Given the description of an element on the screen output the (x, y) to click on. 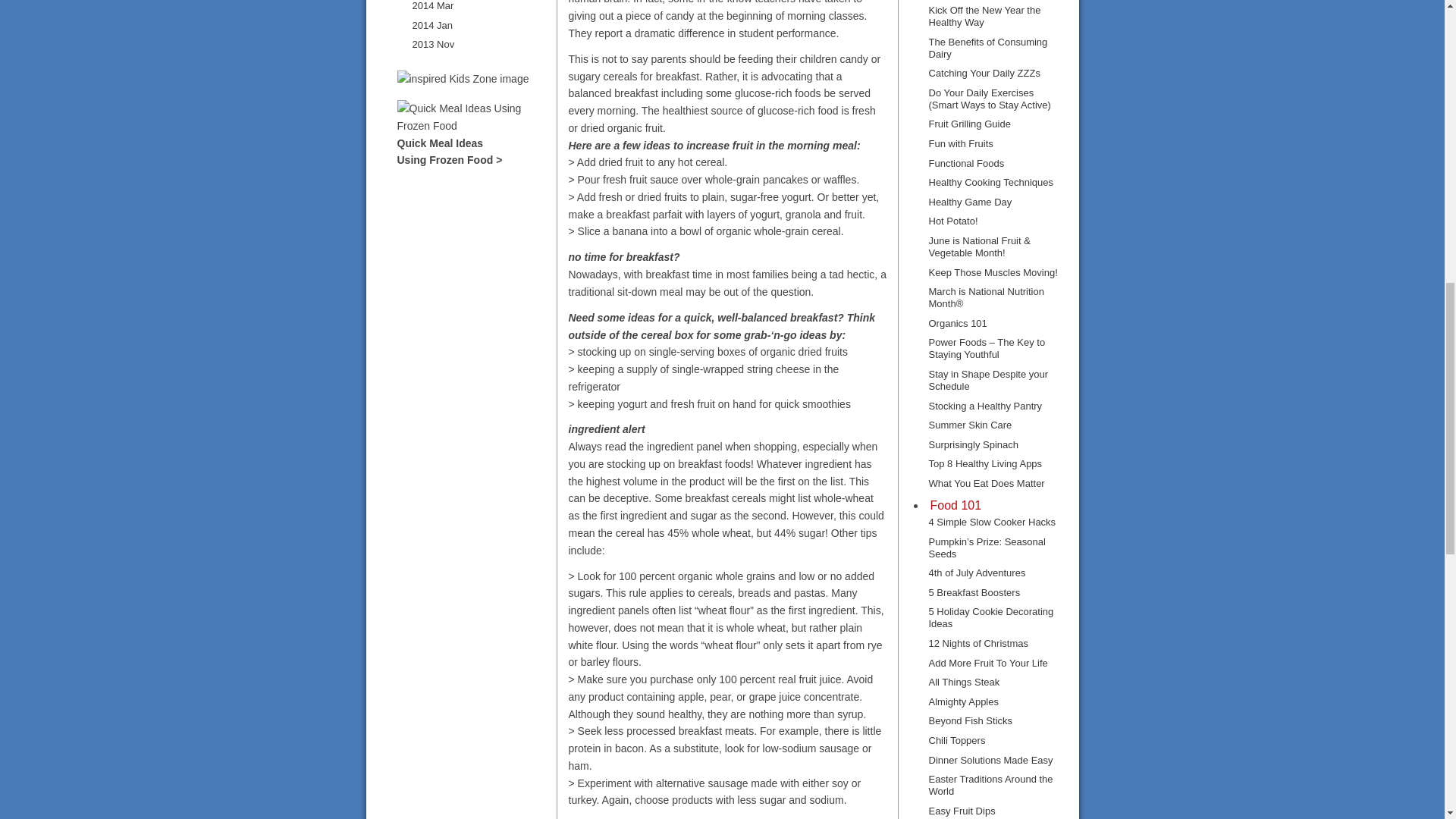
2014 Jan (432, 25)
Quick Meal Ideas Using Frozen Food (472, 143)
inspired Kids Zone (463, 78)
2014 Mar (433, 7)
2013 Nov (433, 44)
